Given the description of an element on the screen output the (x, y) to click on. 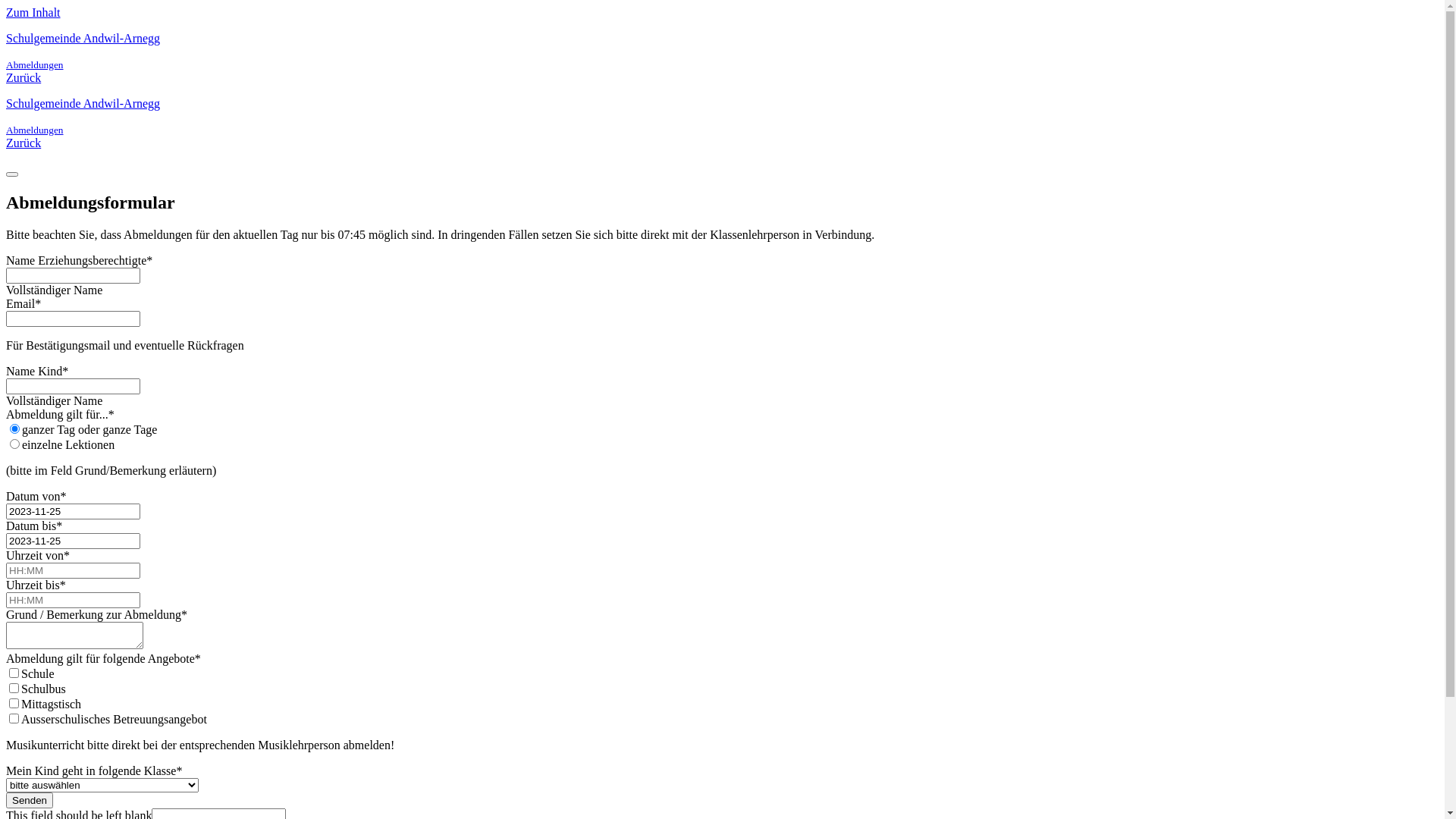
Schulgemeinde Andwil-Arnegg
Abmeldungen Element type: text (722, 51)
Zum Inhalt Element type: text (33, 12)
Senden Element type: text (29, 800)
Schulgemeinde Andwil-Arnegg
Abmeldungen Element type: text (722, 116)
submit Element type: text (12, 174)
